Given the description of an element on the screen output the (x, y) to click on. 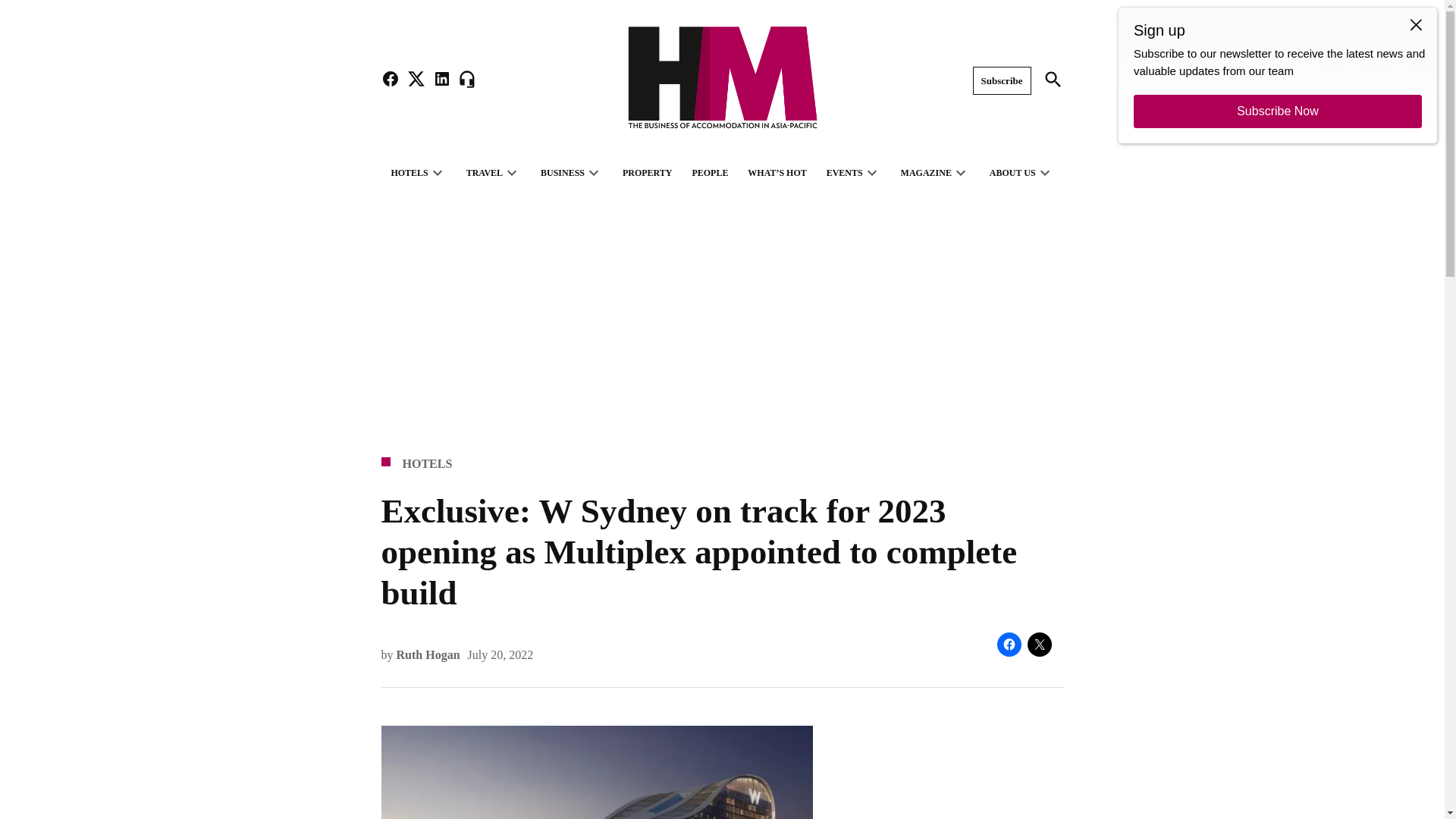
Click to share on Facebook (1007, 644)
3rd party ad content (956, 772)
Click to share on X (1038, 644)
Popup CTA (1277, 75)
